Given the description of an element on the screen output the (x, y) to click on. 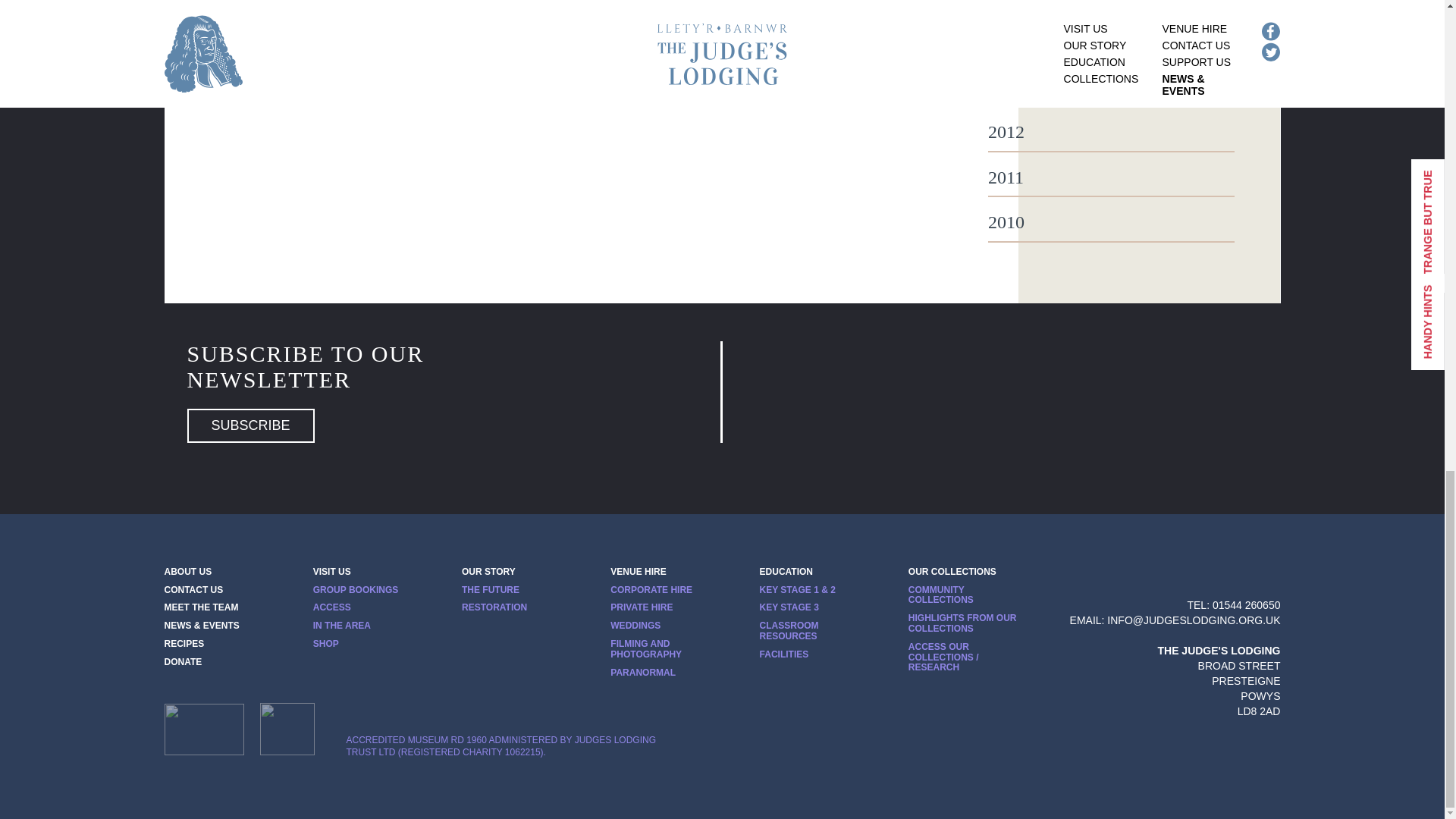
2011 (1111, 178)
2014 (1111, 42)
2015 (1111, 3)
2012 (1111, 132)
2013 (1111, 86)
2010 (1111, 222)
